Given the description of an element on the screen output the (x, y) to click on. 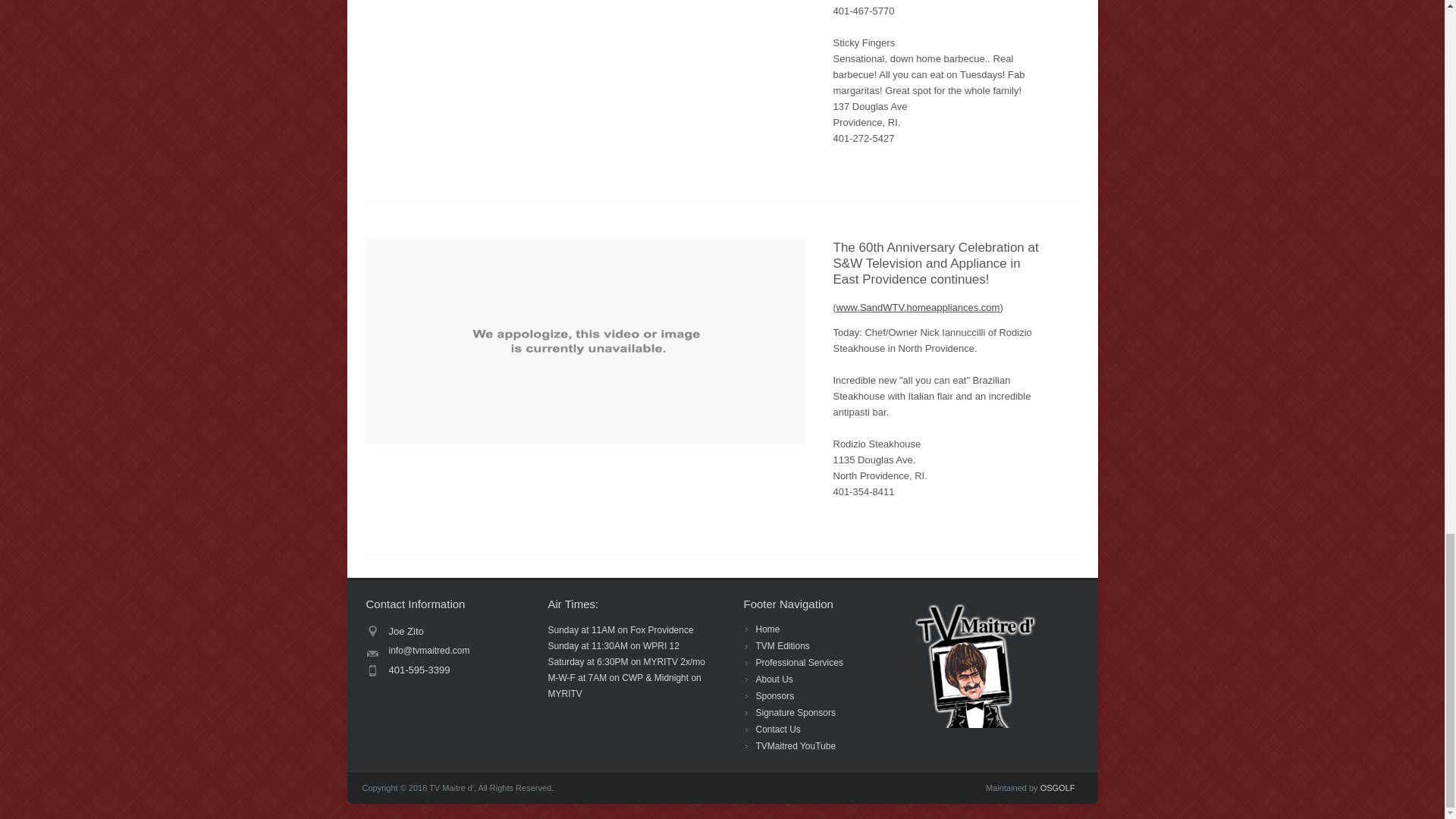
Email (448, 650)
Phone (448, 669)
Contact (448, 631)
